Given the description of an element on the screen output the (x, y) to click on. 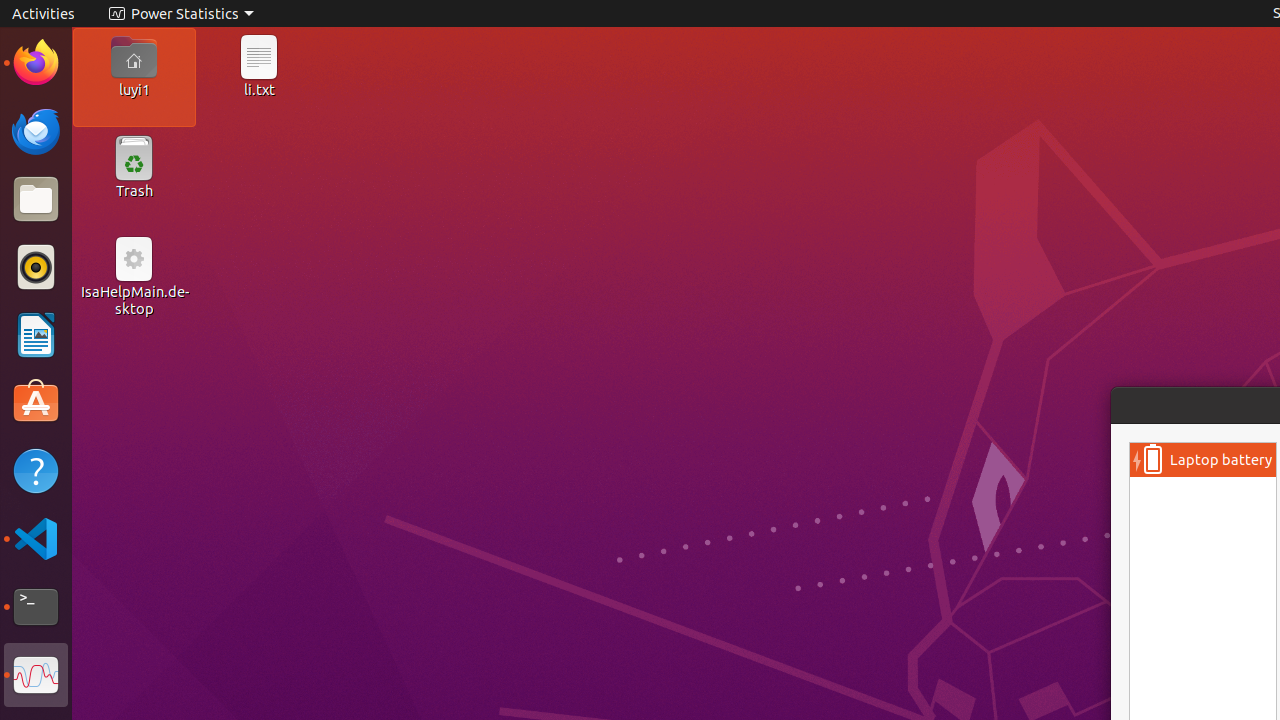
IsaHelpMain.desktop Element type: label (133, 300)
Power Statistics Element type: menu (181, 13)
